Given the description of an element on the screen output the (x, y) to click on. 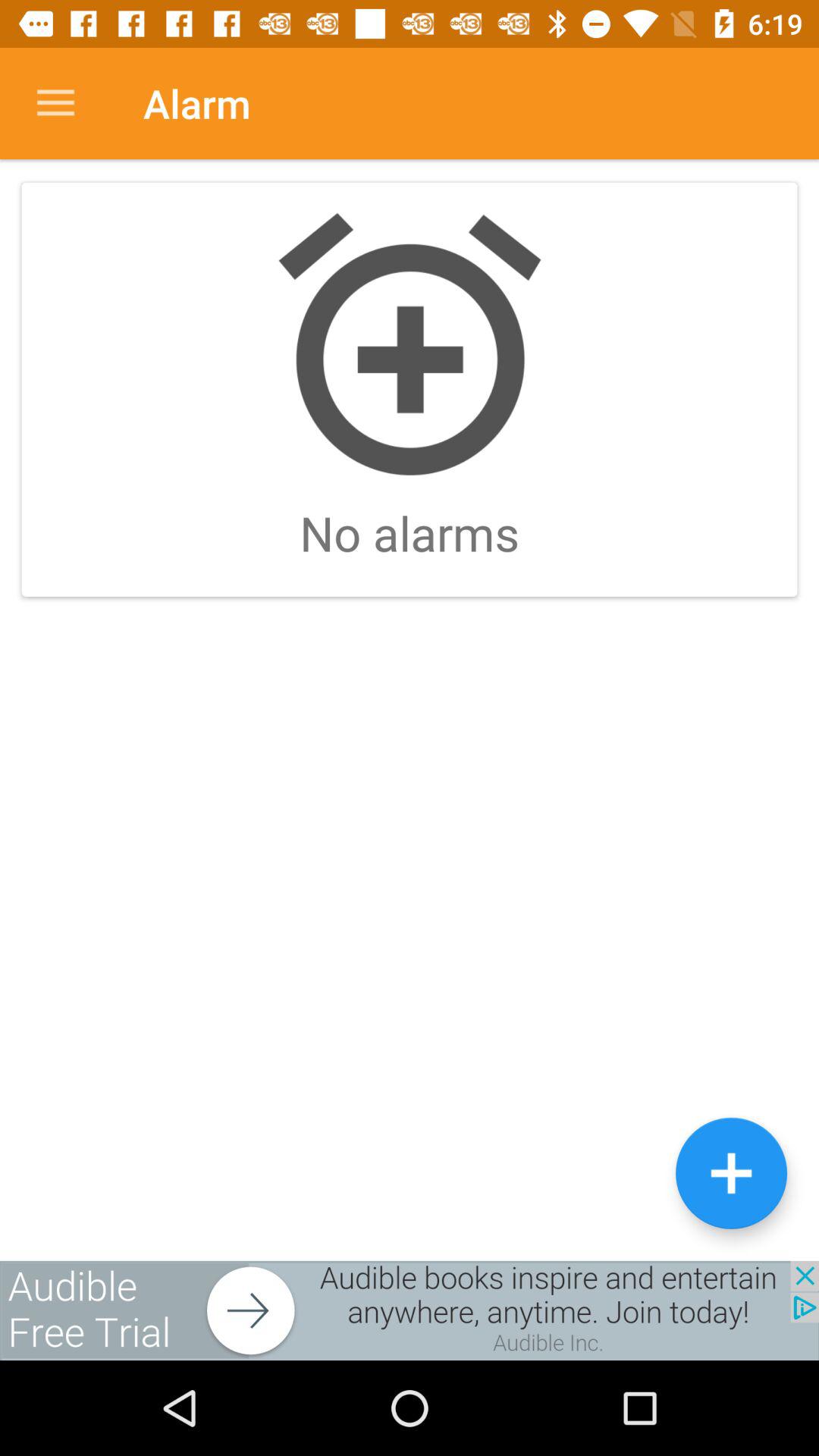
add an alarm (731, 1173)
